Given the description of an element on the screen output the (x, y) to click on. 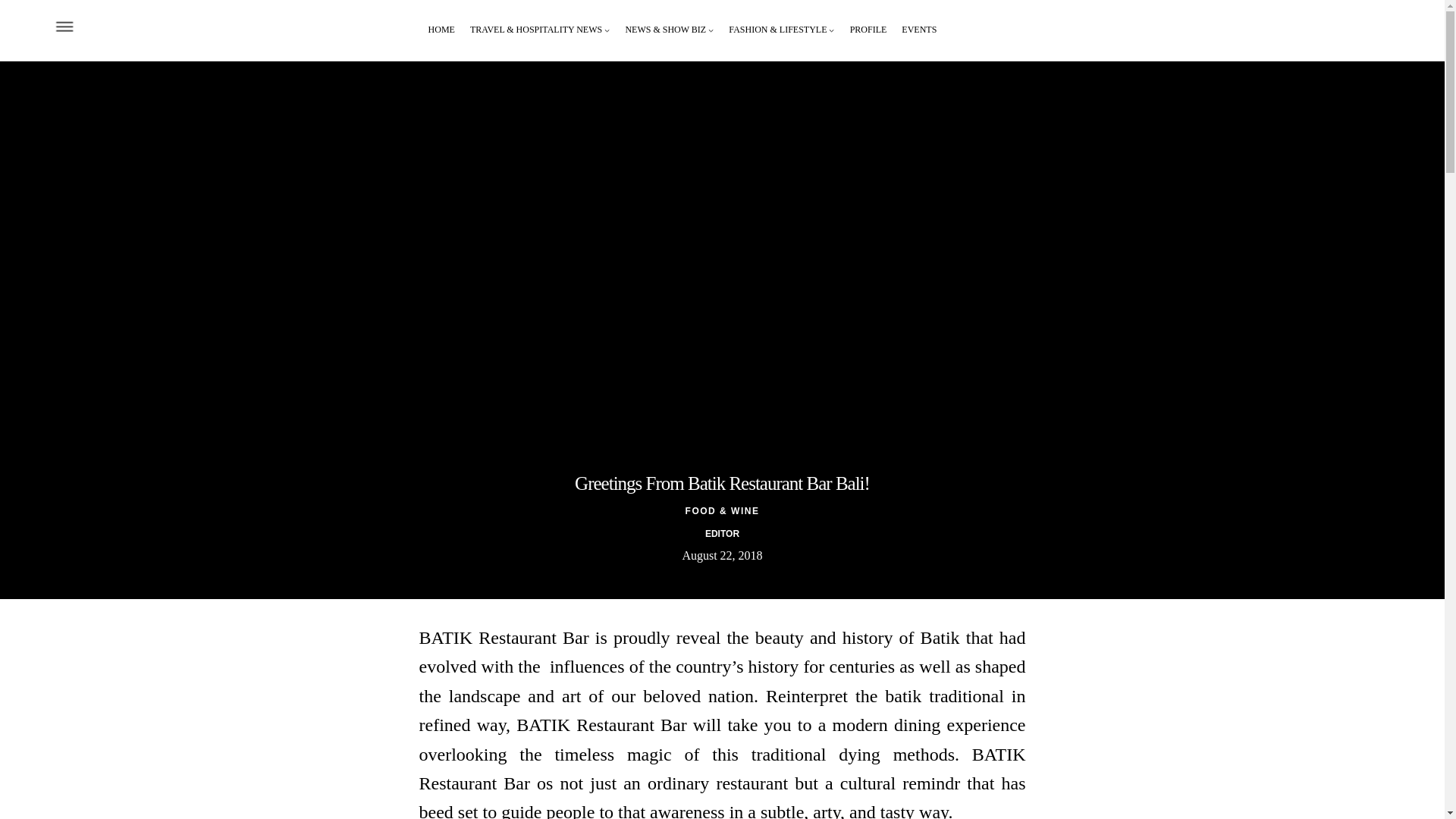
HOME (441, 29)
EVENTS (918, 29)
PROFILE (868, 29)
